Given the description of an element on the screen output the (x, y) to click on. 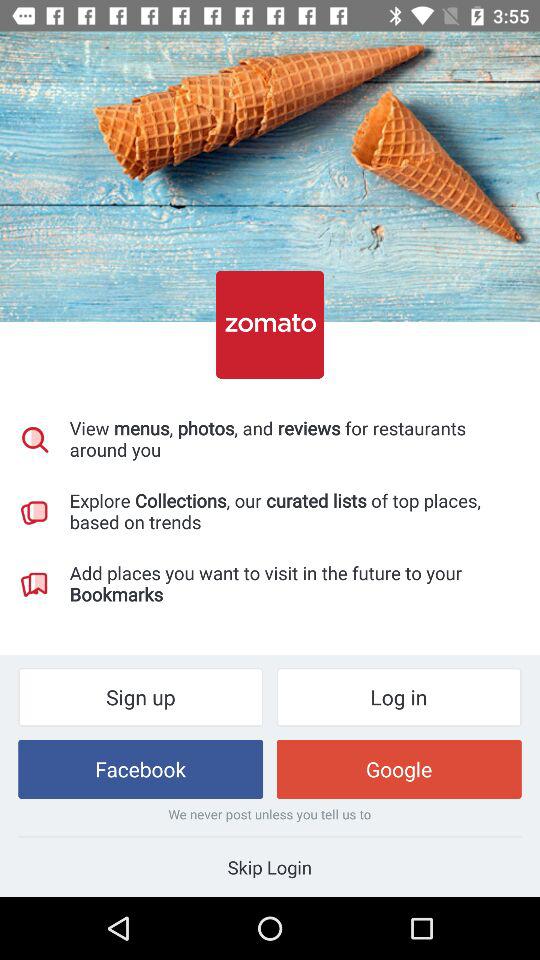
press the icon to the right of the facebook icon (398, 768)
